Given the description of an element on the screen output the (x, y) to click on. 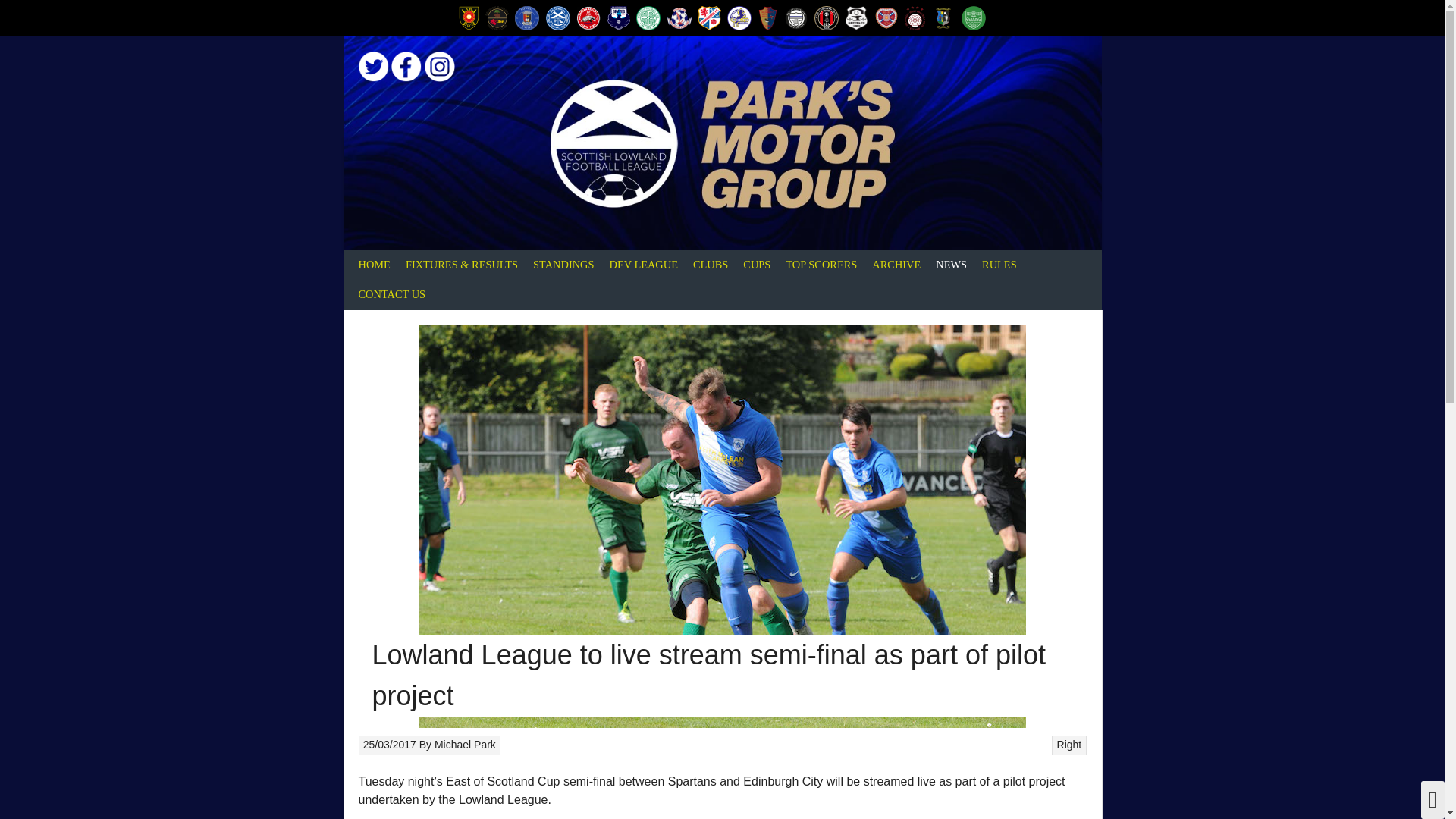
Cowdenbeath (708, 17)
East Stirlingshire (796, 17)
CLUBS (710, 265)
Cumbernauld Colts (738, 17)
Broomhill (558, 17)
HOME (373, 265)
Gala Fairydean Rovers (825, 17)
Celtic B (648, 17)
Civil Service Strollers (678, 17)
Bo'ness United (526, 17)
DEV LEAGUE (642, 265)
Berwick Rangers (496, 17)
STANDINGS (563, 265)
Broxburn Athletic (587, 17)
Caledonian Braves (618, 17)
